Given the description of an element on the screen output the (x, y) to click on. 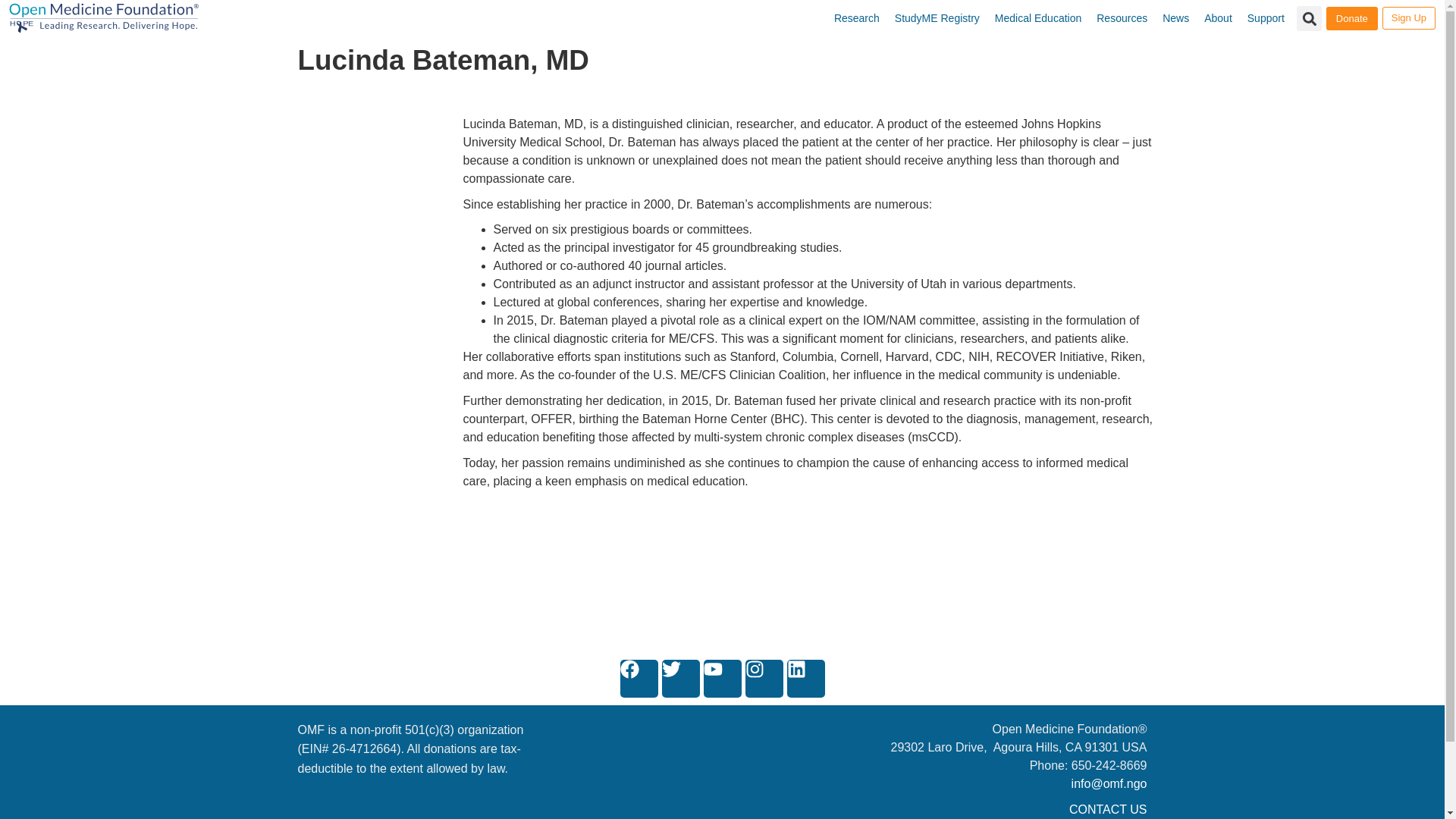
About (1218, 18)
Resources (1121, 18)
StudyME Registry (936, 18)
News (1175, 18)
Medical Education (1038, 18)
Research (856, 18)
